Given the description of an element on the screen output the (x, y) to click on. 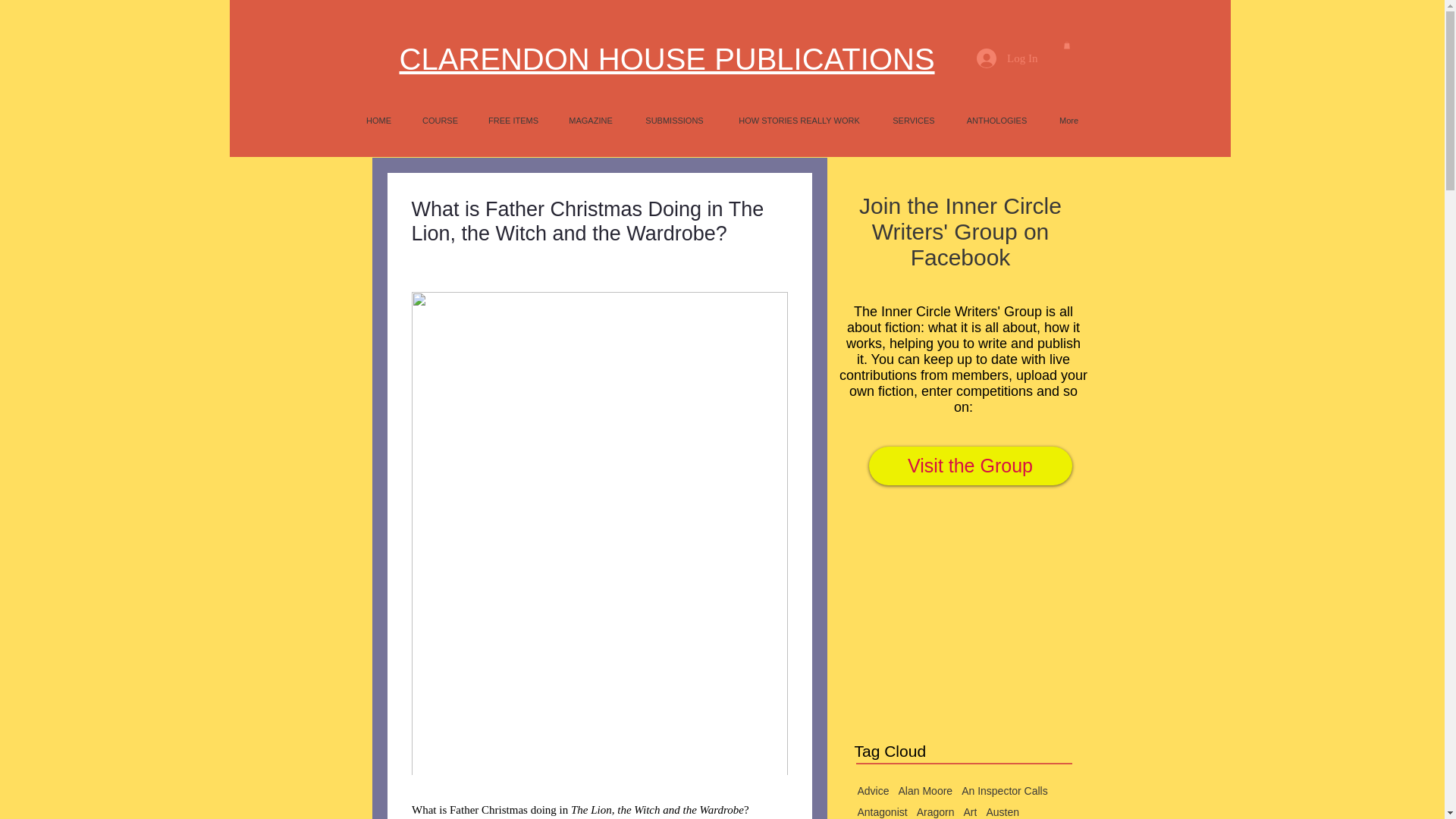
HOW STORIES REALLY WORK (798, 120)
HOME (378, 120)
SUBMISSIONS (673, 120)
FREE ITEMS (513, 120)
CLARENDON HOUSE PUBLICATIONS (666, 59)
ANTHOLOGIES (996, 120)
COURSE (439, 120)
SERVICES (913, 120)
MAGAZINE (590, 120)
